Given the description of an element on the screen output the (x, y) to click on. 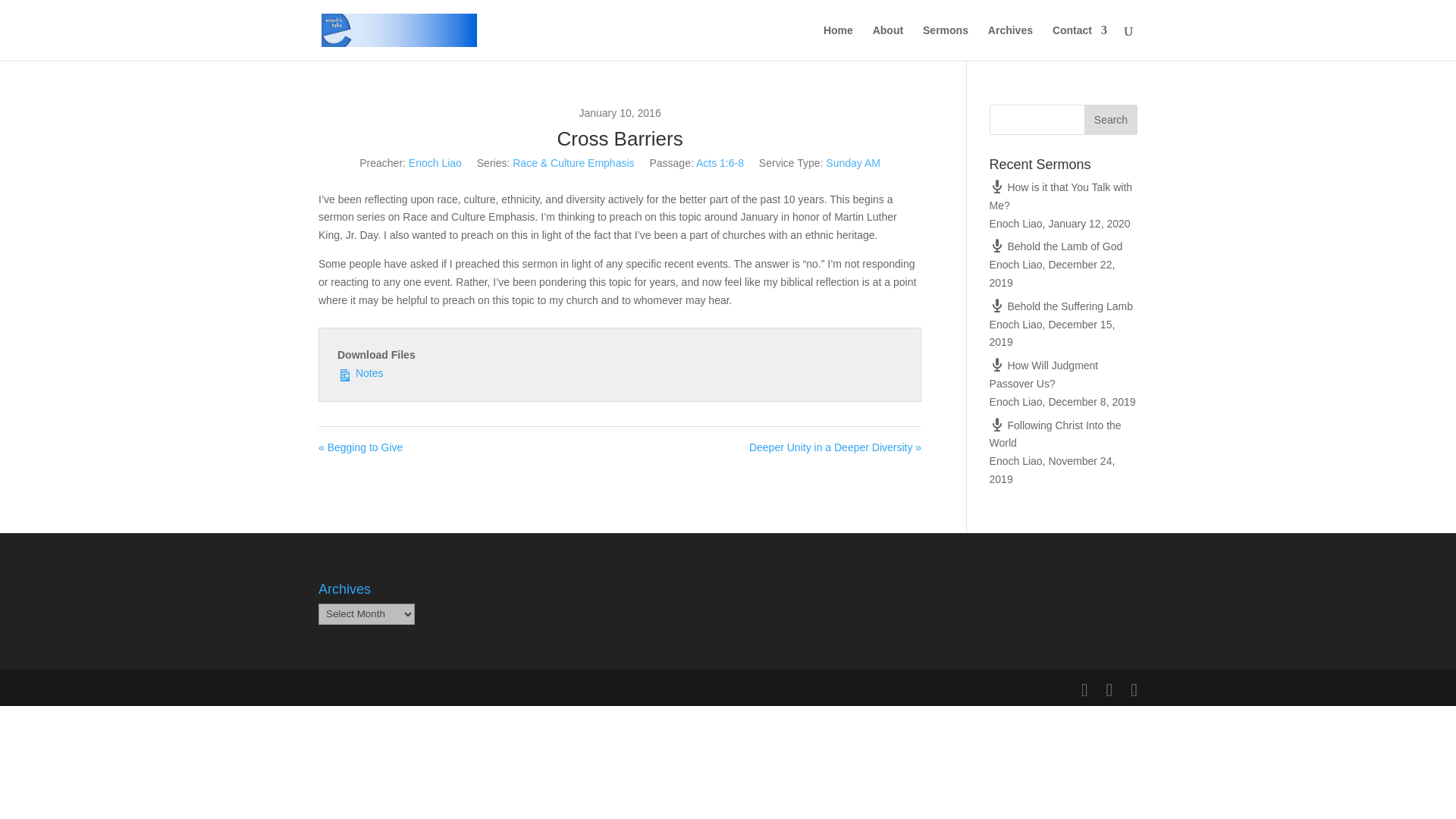
Sermons (945, 42)
Behold the Suffering Lamb (1061, 306)
Following Christ Into the World (1055, 434)
Sunday AM (852, 162)
Search (1110, 119)
How is it that You Talk with Me? (1061, 195)
Behold the Lamb of God (1056, 246)
Behold the Suffering Lamb (1061, 306)
How Will Judgment Passover Us? (1044, 374)
Archives (1010, 42)
